Given the description of an element on the screen output the (x, y) to click on. 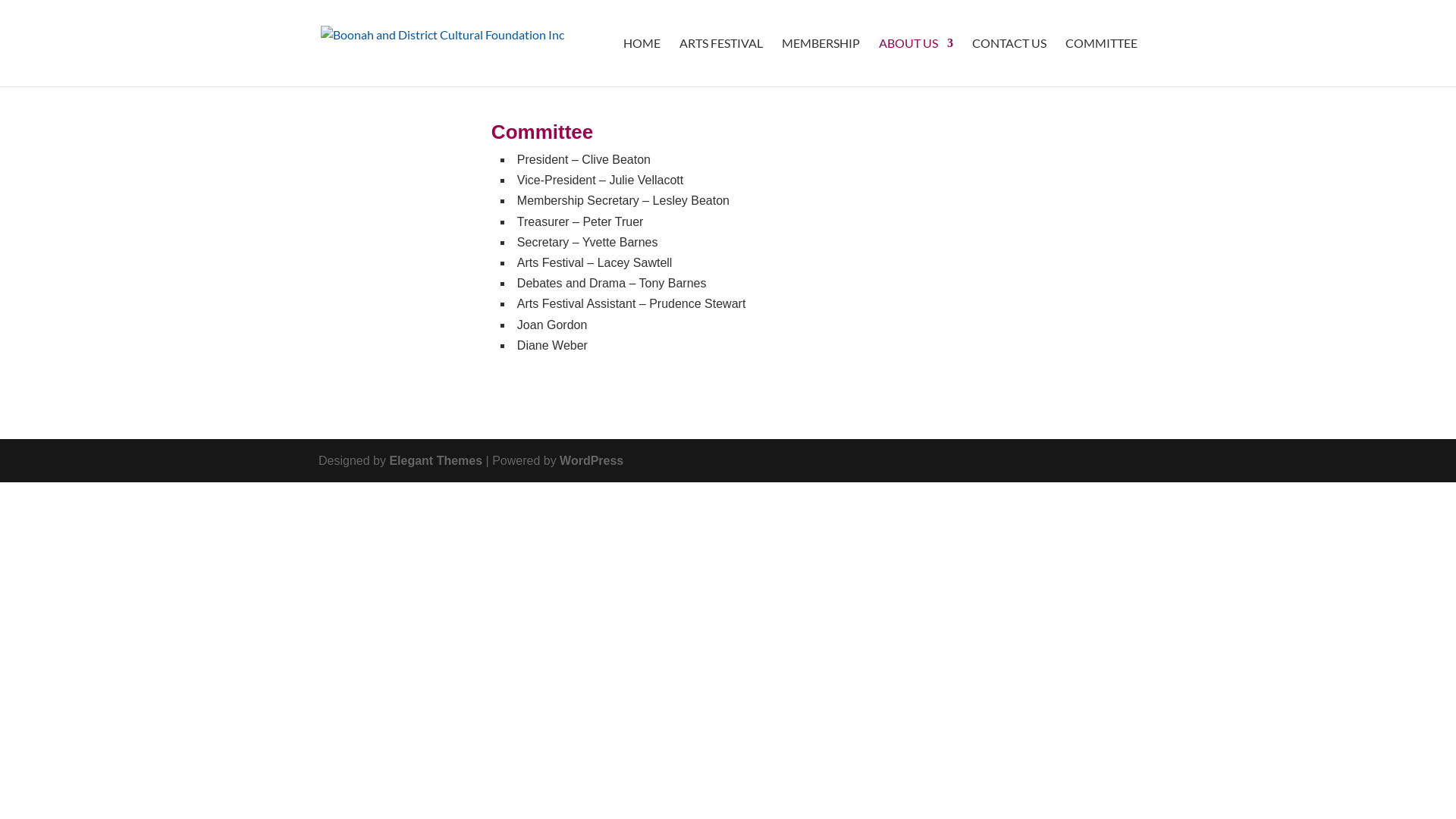
MEMBERSHIP Element type: text (820, 61)
Elegant Themes Element type: text (435, 460)
WordPress Element type: text (591, 460)
CONTACT US Element type: text (1009, 61)
ARTS FESTIVAL Element type: text (720, 61)
COMMITTEE Element type: text (1101, 61)
HOME Element type: text (641, 61)
ABOUT US Element type: text (915, 61)
